Given the description of an element on the screen output the (x, y) to click on. 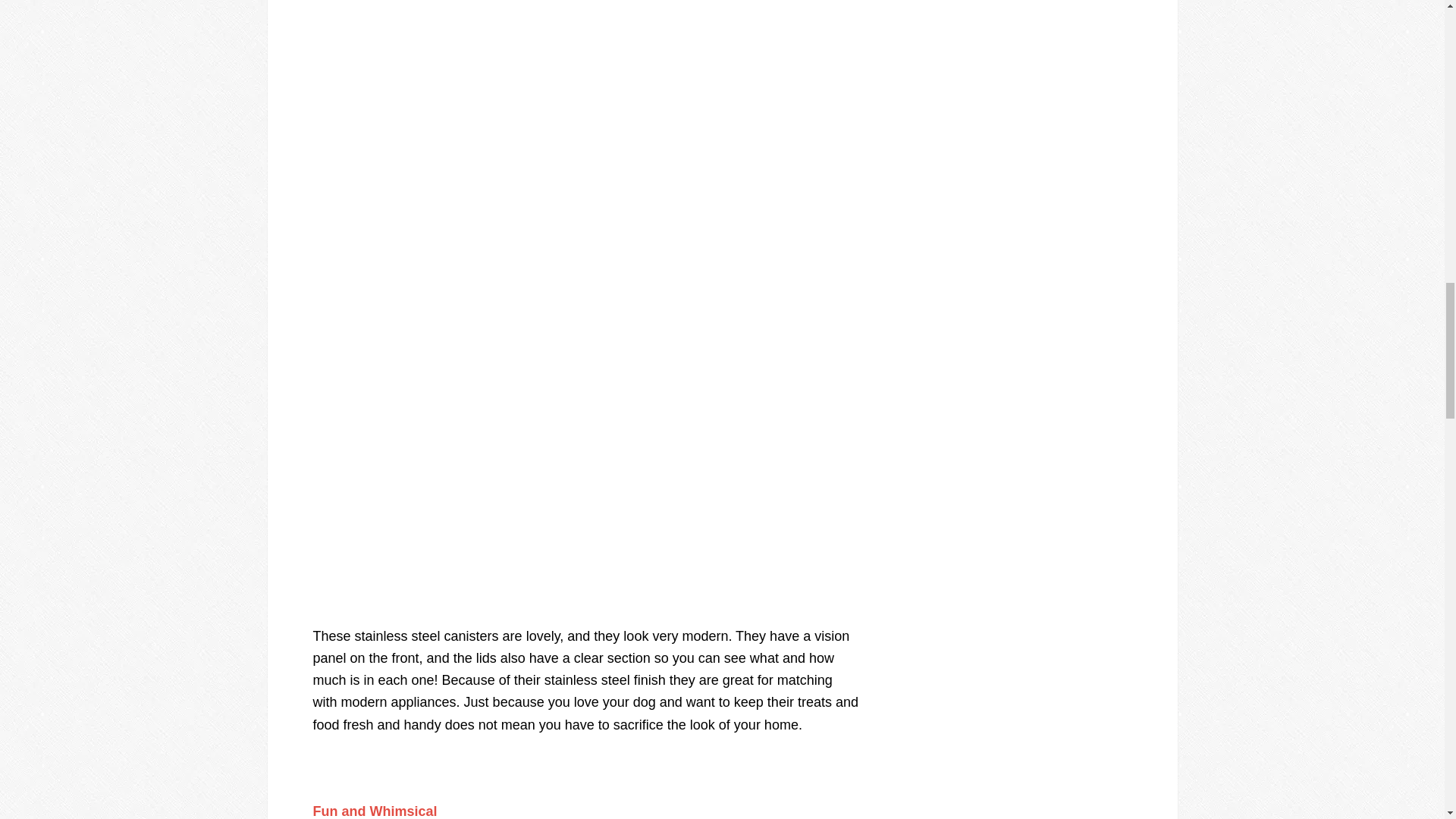
Fun and Whimsical (374, 811)
